Given the description of an element on the screen output the (x, y) to click on. 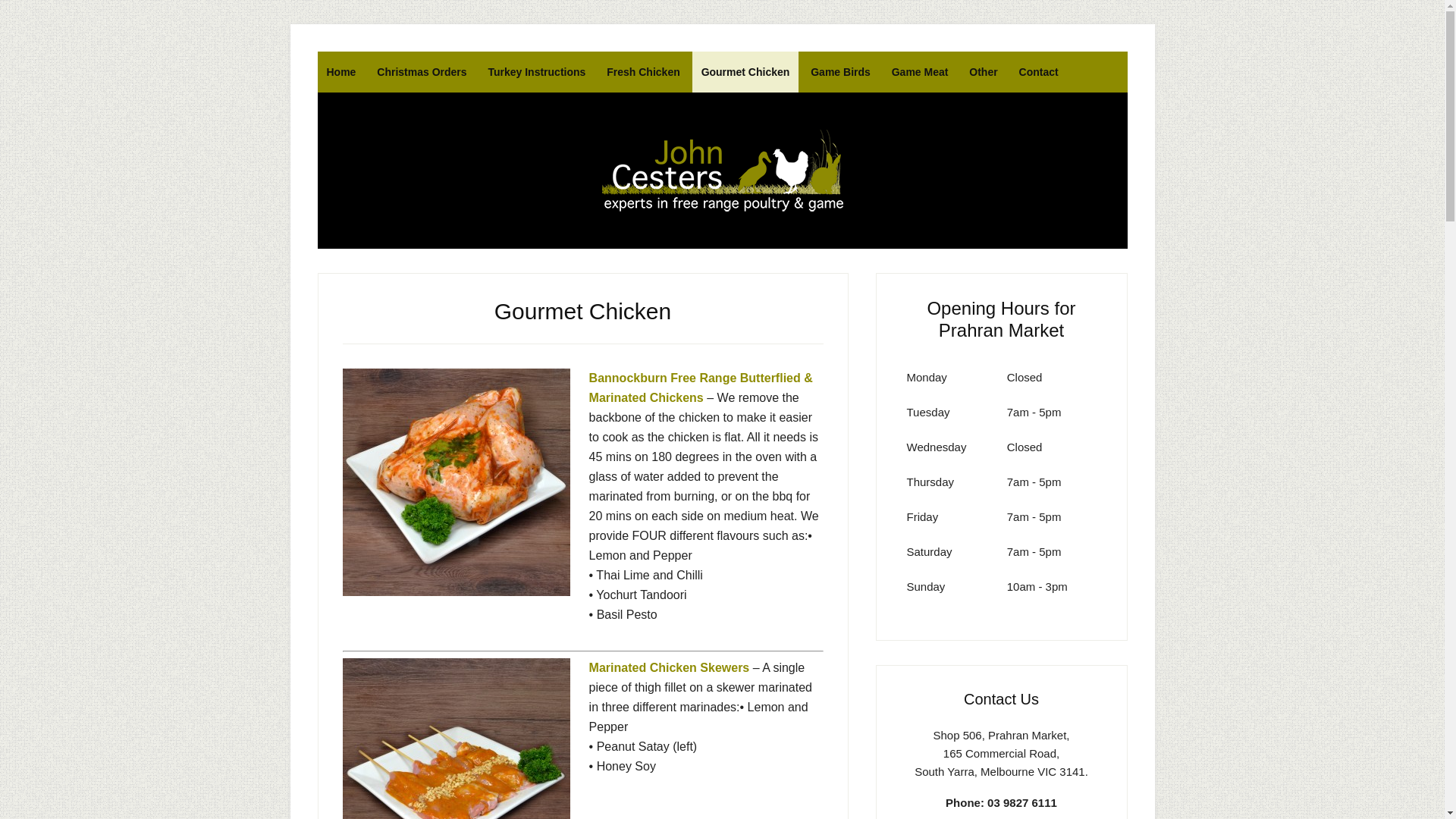
Gourmet Chicken Element type: text (745, 71)
Contact Element type: text (1038, 71)
Other Element type: text (983, 71)
Game Meat Element type: text (919, 71)
Game Birds Element type: text (840, 71)
Home Element type: text (340, 71)
Christmas Orders Element type: text (421, 71)
John Cesters Poultry & Game Meat Element type: text (721, 170)
Turkey Instructions Element type: text (536, 71)
Fresh Chicken Element type: text (642, 71)
